Given the description of an element on the screen output the (x, y) to click on. 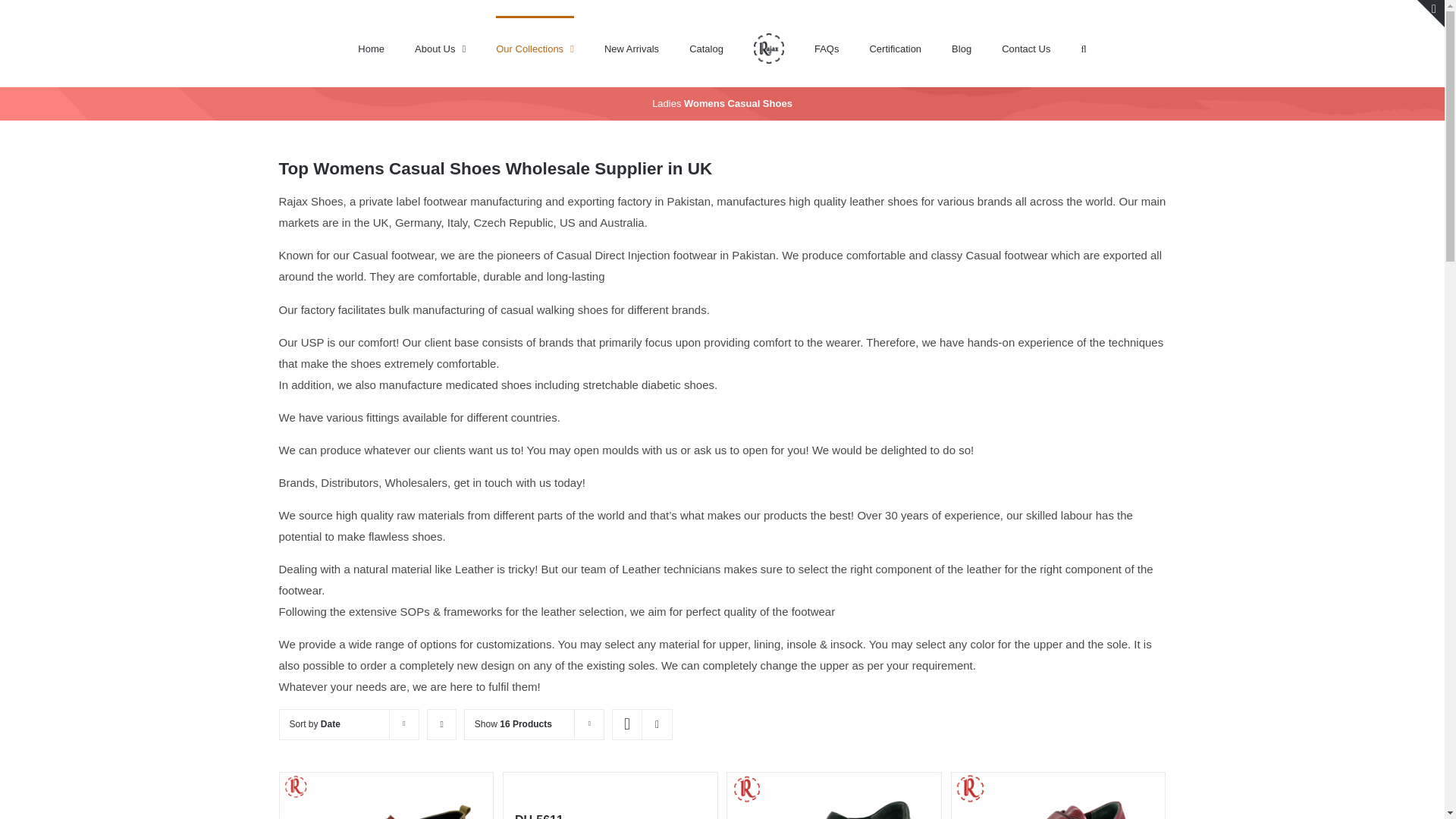
Ladies (666, 102)
Show 16 Products (512, 724)
Our Collections (534, 46)
Sort by Date (314, 724)
